Given the description of an element on the screen output the (x, y) to click on. 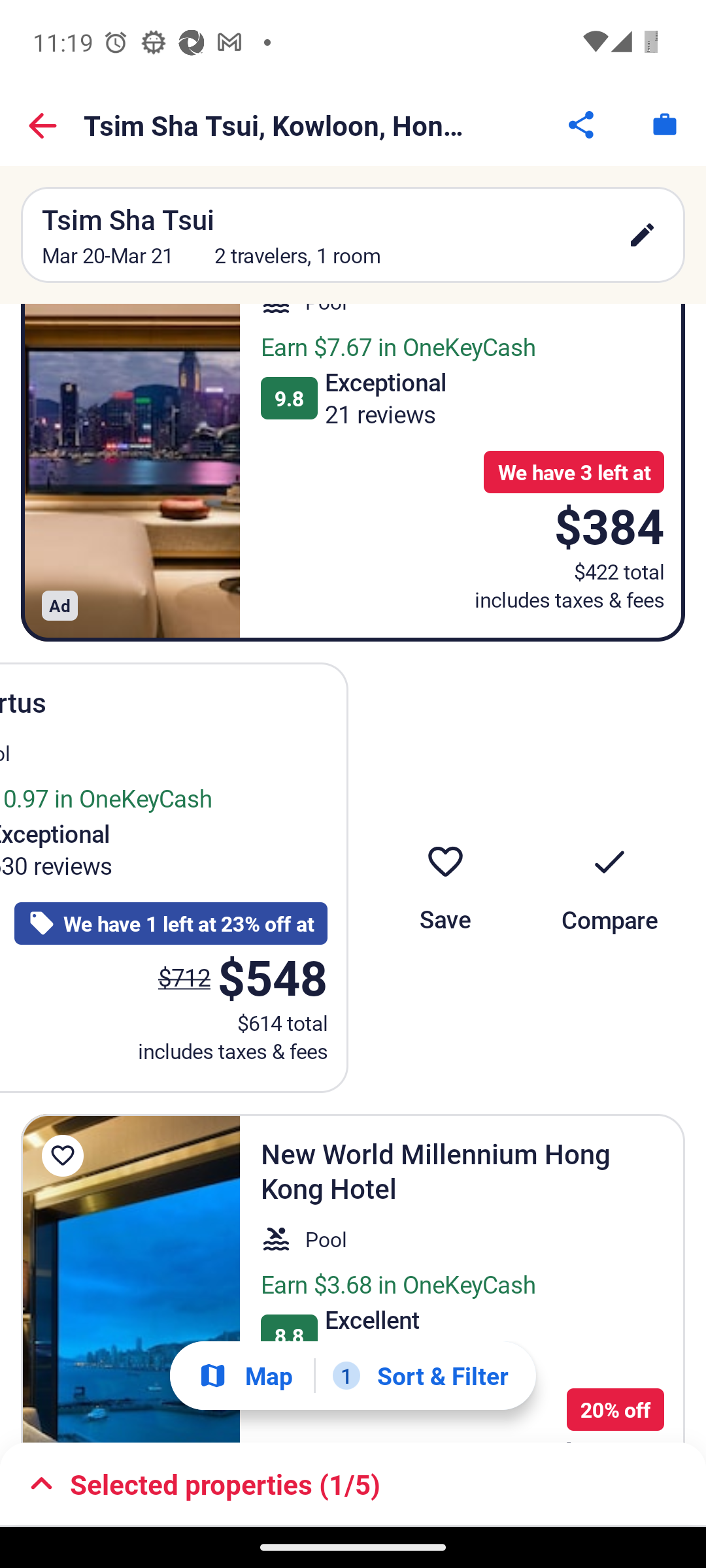
Share Button (582, 124)
Trips. Button (664, 124)
Regent Hong Kong (130, 472)
Save (444, 876)
Compare (608, 876)
$712 The price was $712 (184, 977)
New World Millennium Hong Kong Hotel (130, 1277)
1 Sort & Filter 1 Filter applied. Filters Button (420, 1374)
Show map Map Show map Button (244, 1375)
